Given the description of an element on the screen output the (x, y) to click on. 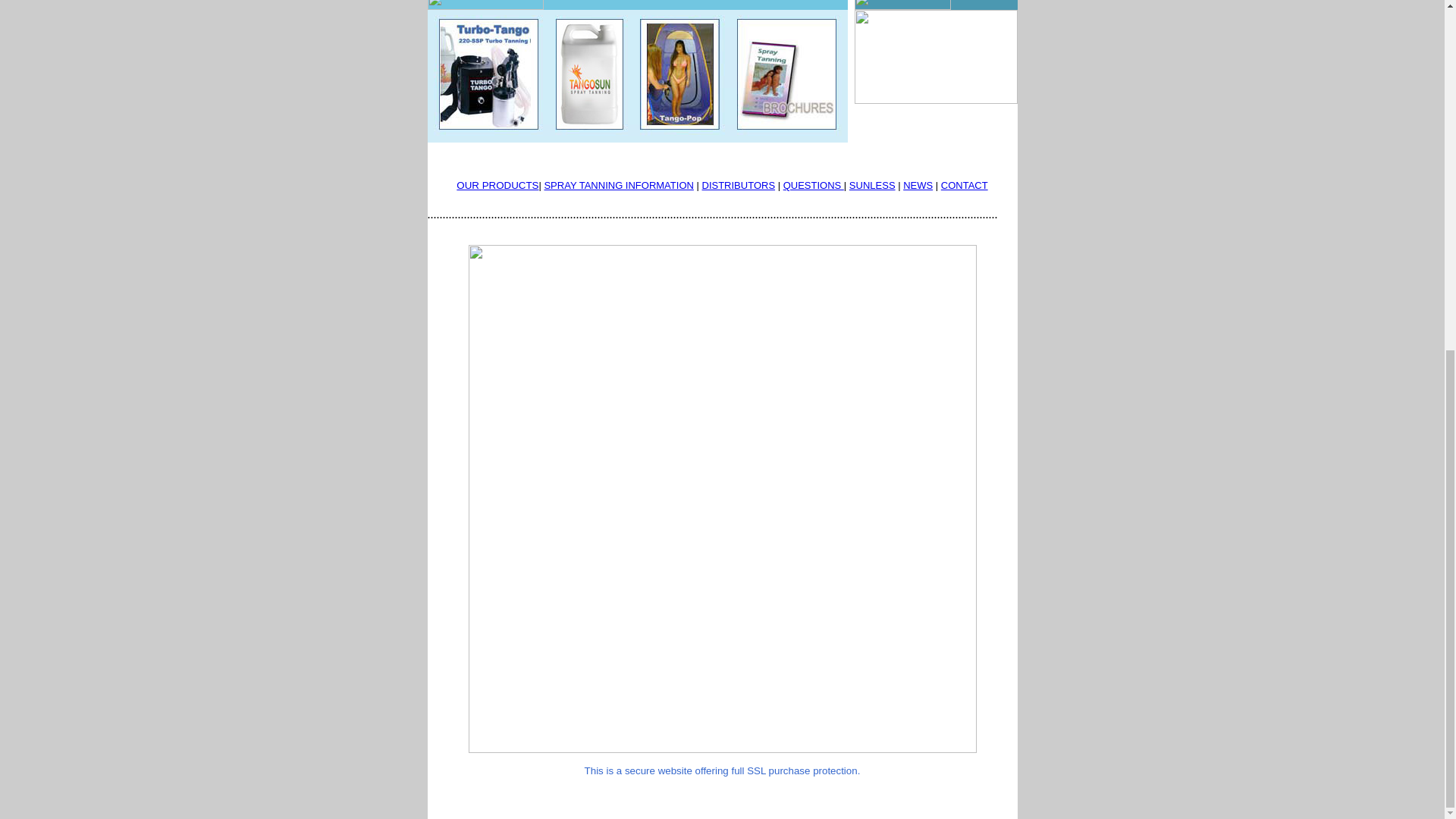
QUESTIONS (813, 184)
DISTRIBUTORS (738, 184)
OUR PRODUCTS (722, 178)
SUNLESS (871, 184)
SPRAY TANNING INFORMATION (618, 184)
CONTACT (964, 184)
NEWS (917, 184)
